Given the description of an element on the screen output the (x, y) to click on. 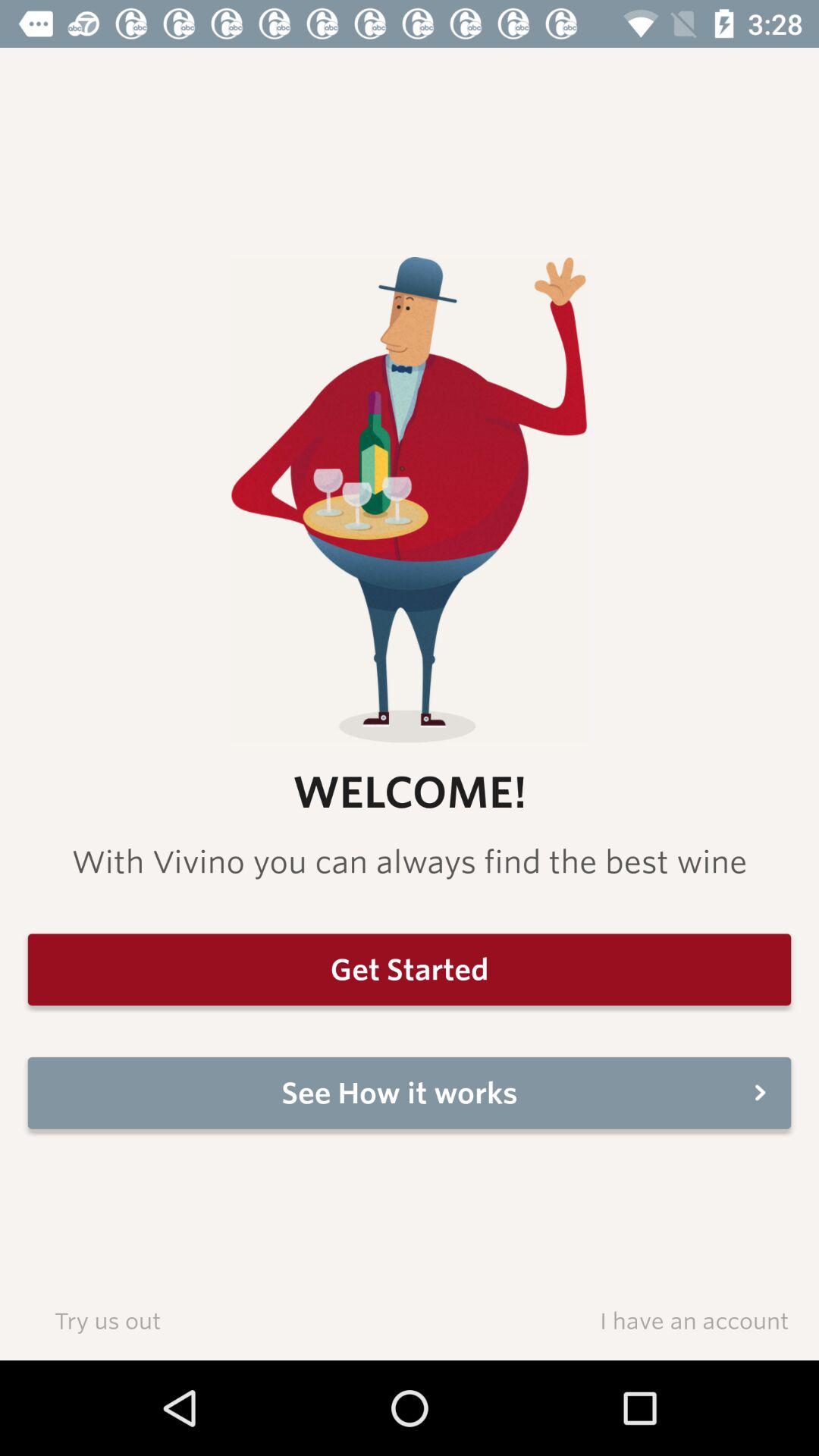
open item to the right of the try us out (694, 1320)
